Given the description of an element on the screen output the (x, y) to click on. 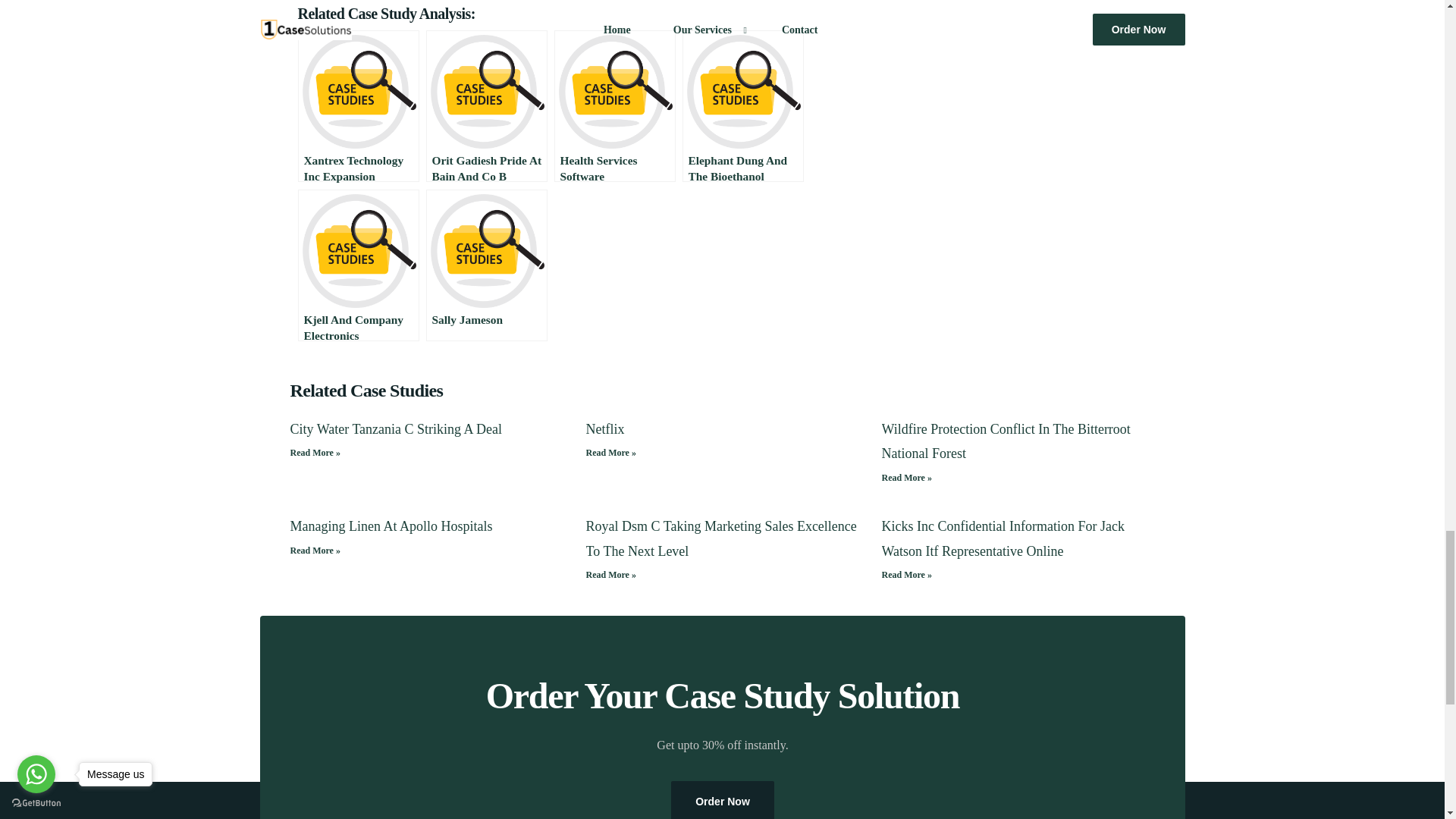
Netflix (604, 428)
City Water Tanzania C Striking A Deal (395, 428)
